Given the description of an element on the screen output the (x, y) to click on. 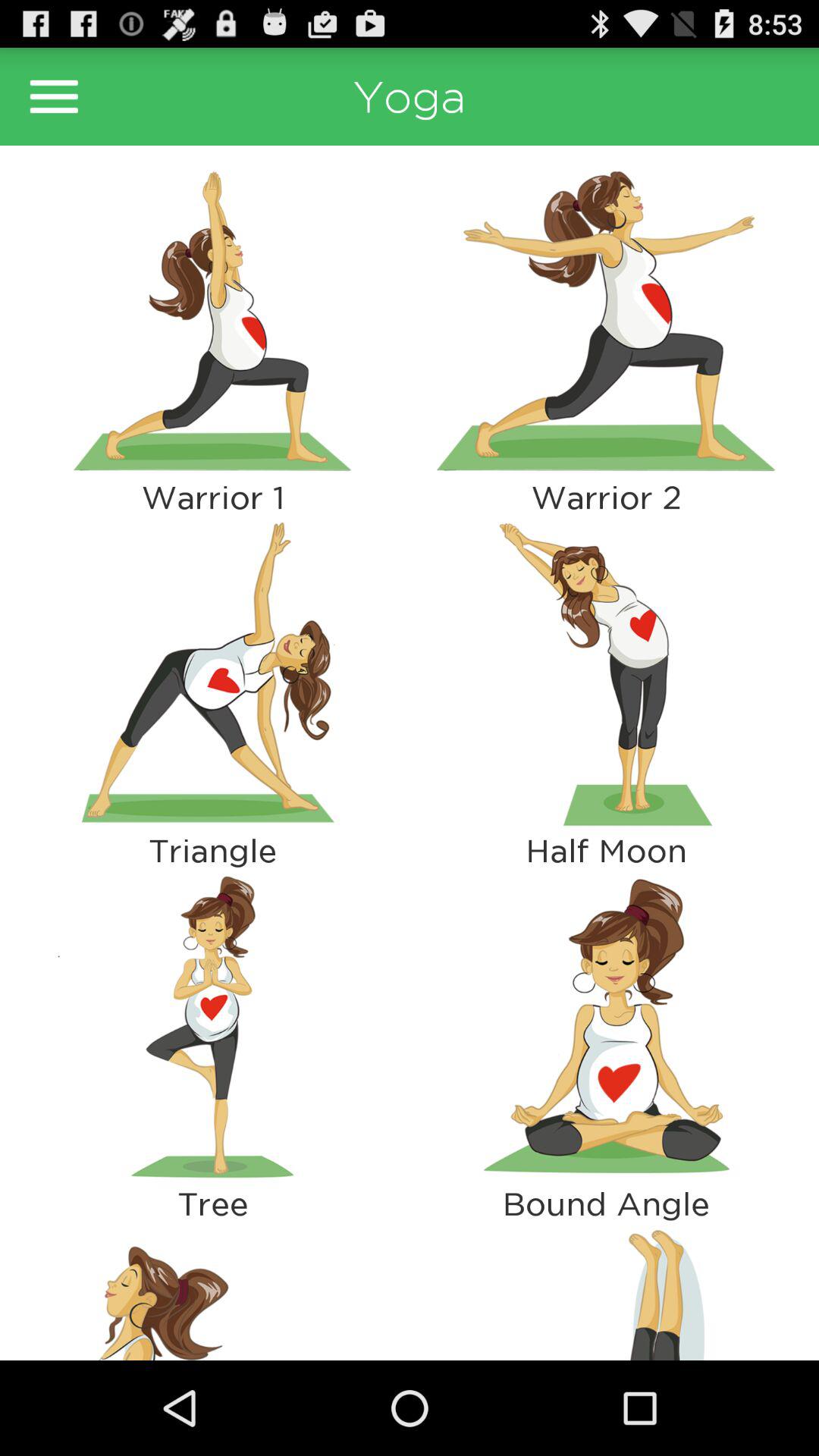
press the warrior 2 (606, 497)
